Given the description of an element on the screen output the (x, y) to click on. 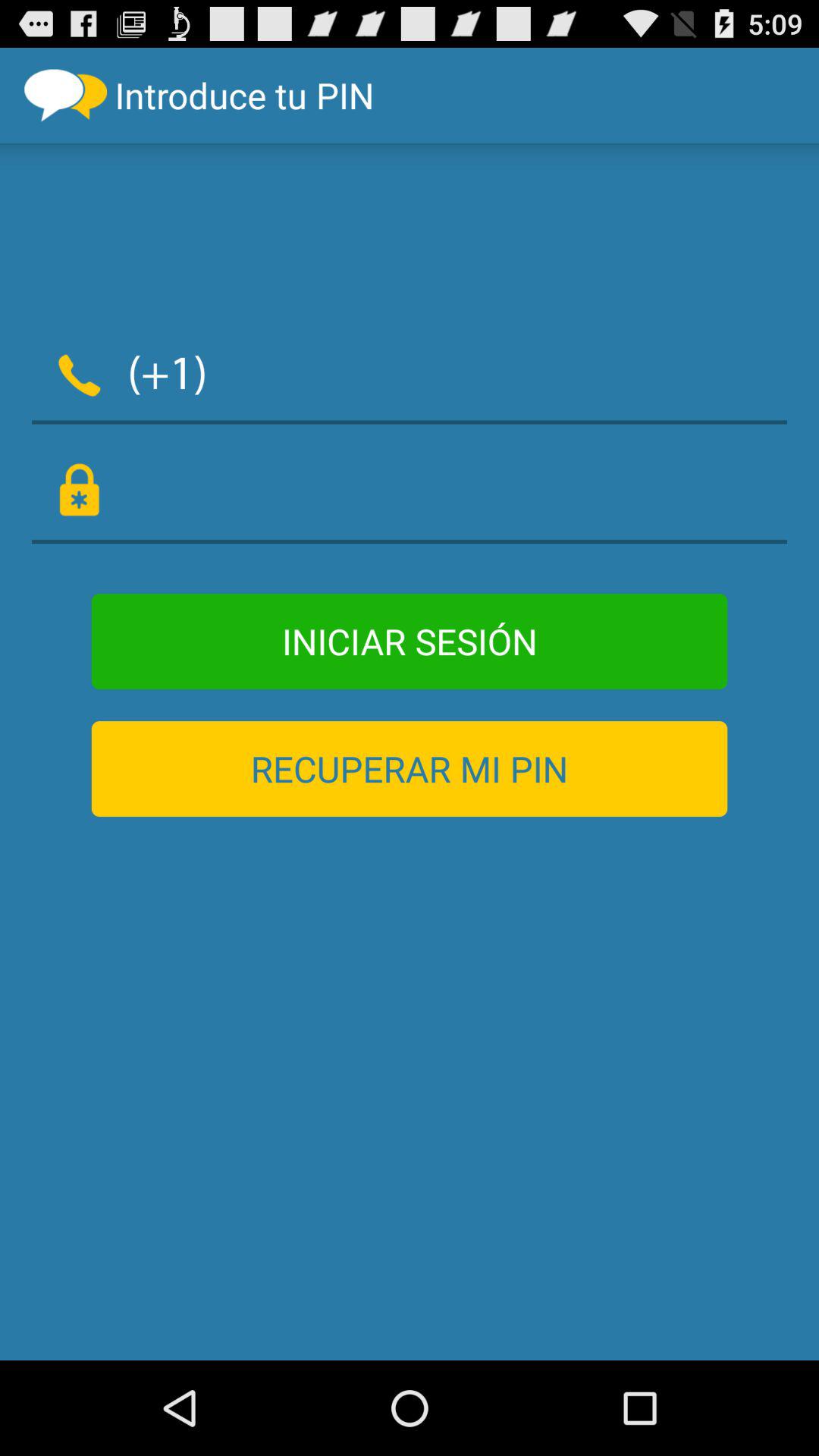
enter pin (409, 491)
